Given the description of an element on the screen output the (x, y) to click on. 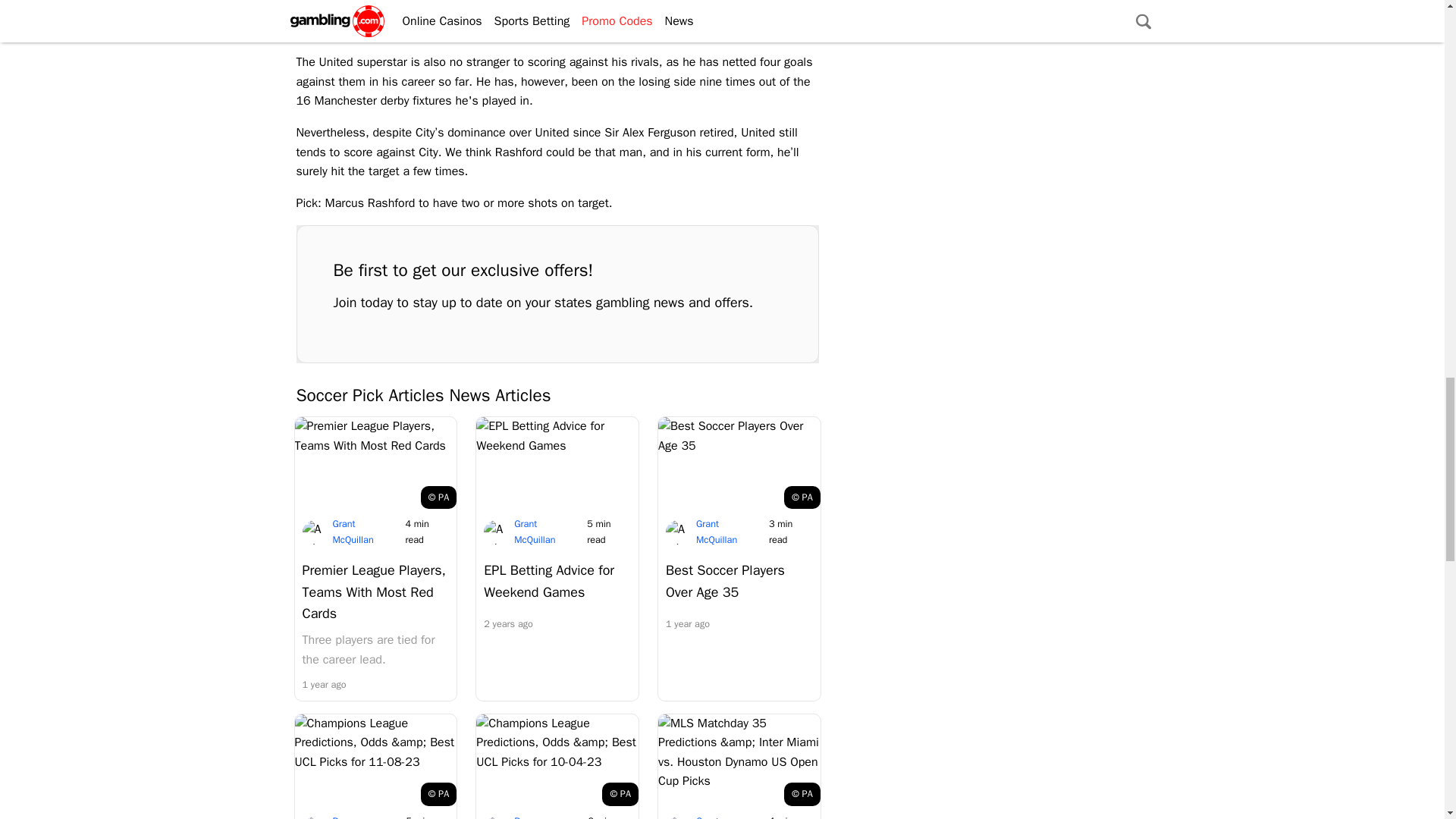
Grant McQuillan (715, 816)
Grant McQuillan (533, 531)
Grant McQuillan (715, 531)
Dusan Jovanovic (533, 816)
Dusan Jovanovic (351, 816)
Grant McQuillan (351, 531)
